Given the description of an element on the screen output the (x, y) to click on. 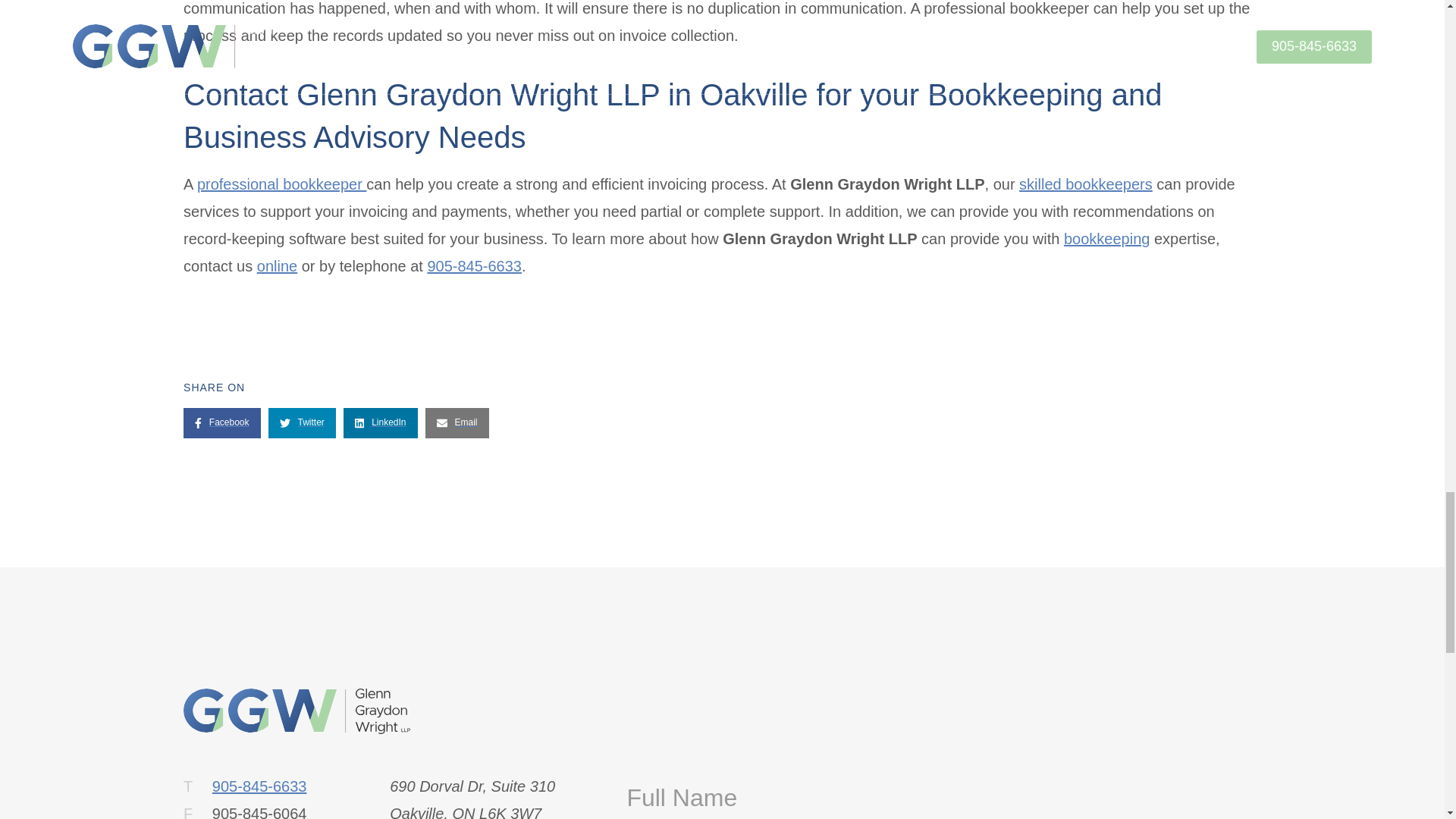
Email (456, 422)
online (277, 265)
professional bookkeeper (281, 184)
skilled bookkeepers (1086, 184)
LinkedIn (380, 422)
bookkeeping (1107, 238)
Twitter (301, 422)
Facebook (221, 422)
905-845-6633 (259, 786)
905-845-6633 (473, 265)
